Given the description of an element on the screen output the (x, y) to click on. 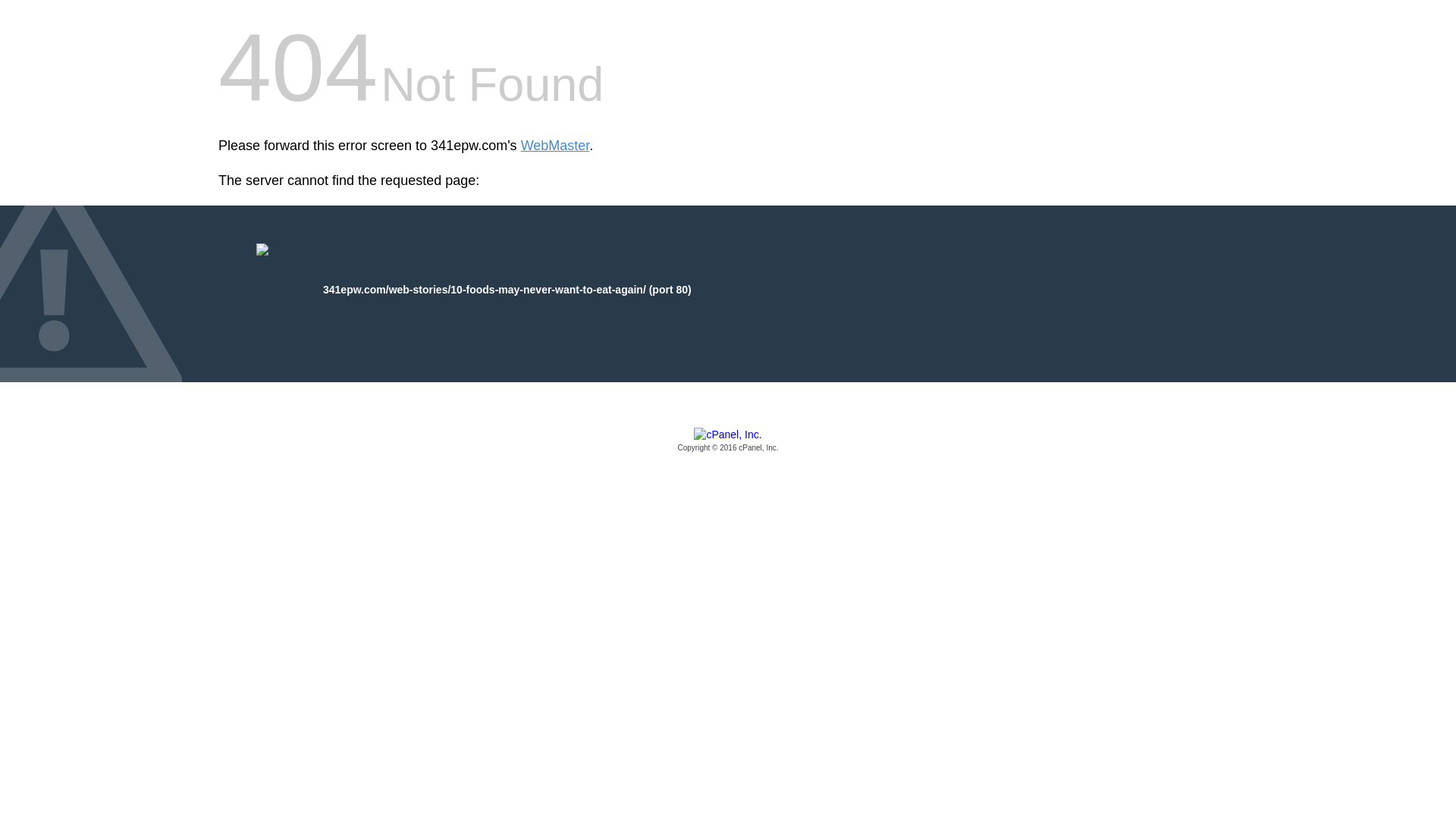
WebMaster (555, 145)
cPanel, Inc. (727, 440)
